Given the description of an element on the screen output the (x, y) to click on. 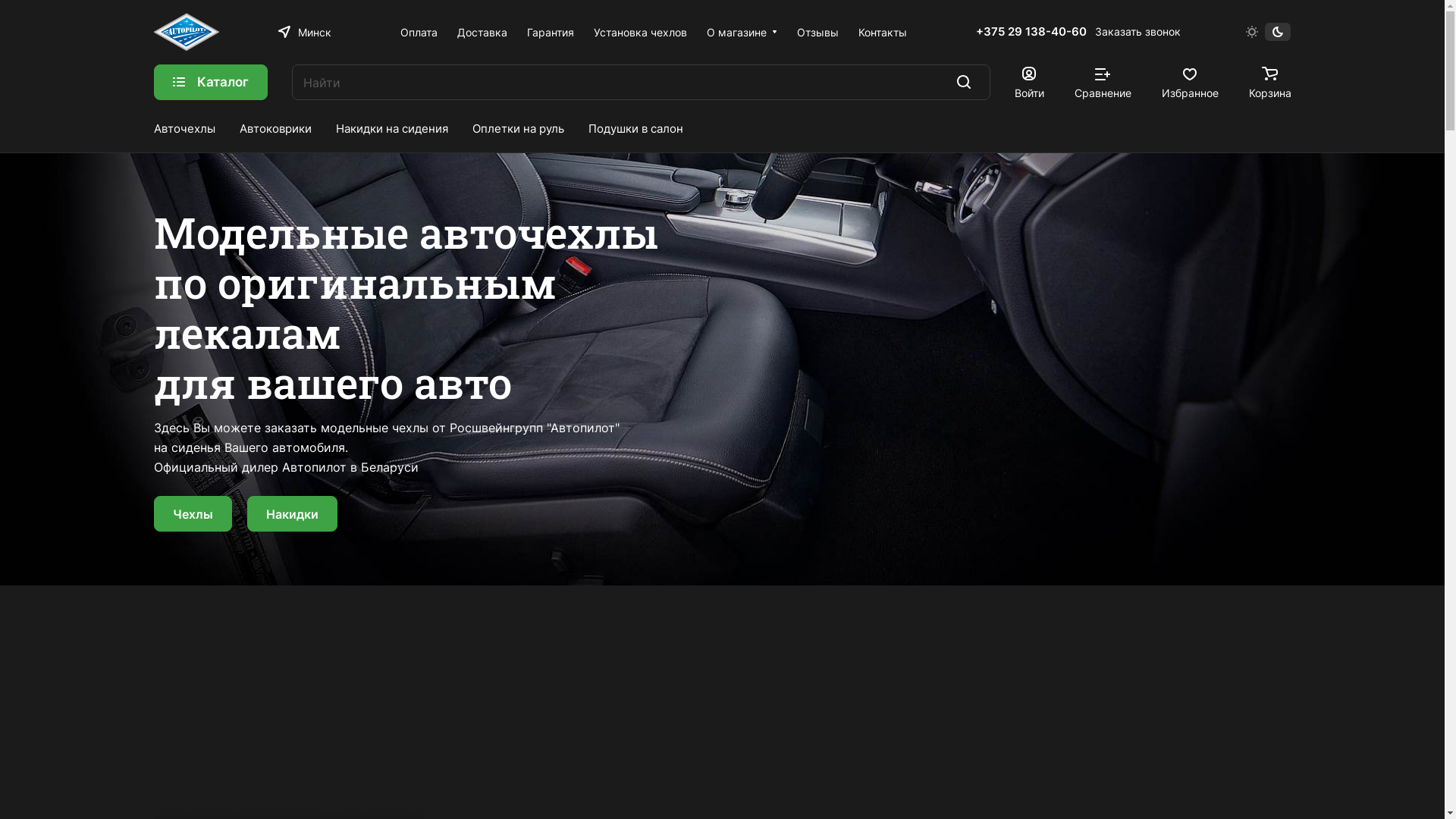
+375 29 138-40-60 Element type: text (1030, 31)
